Given the description of an element on the screen output the (x, y) to click on. 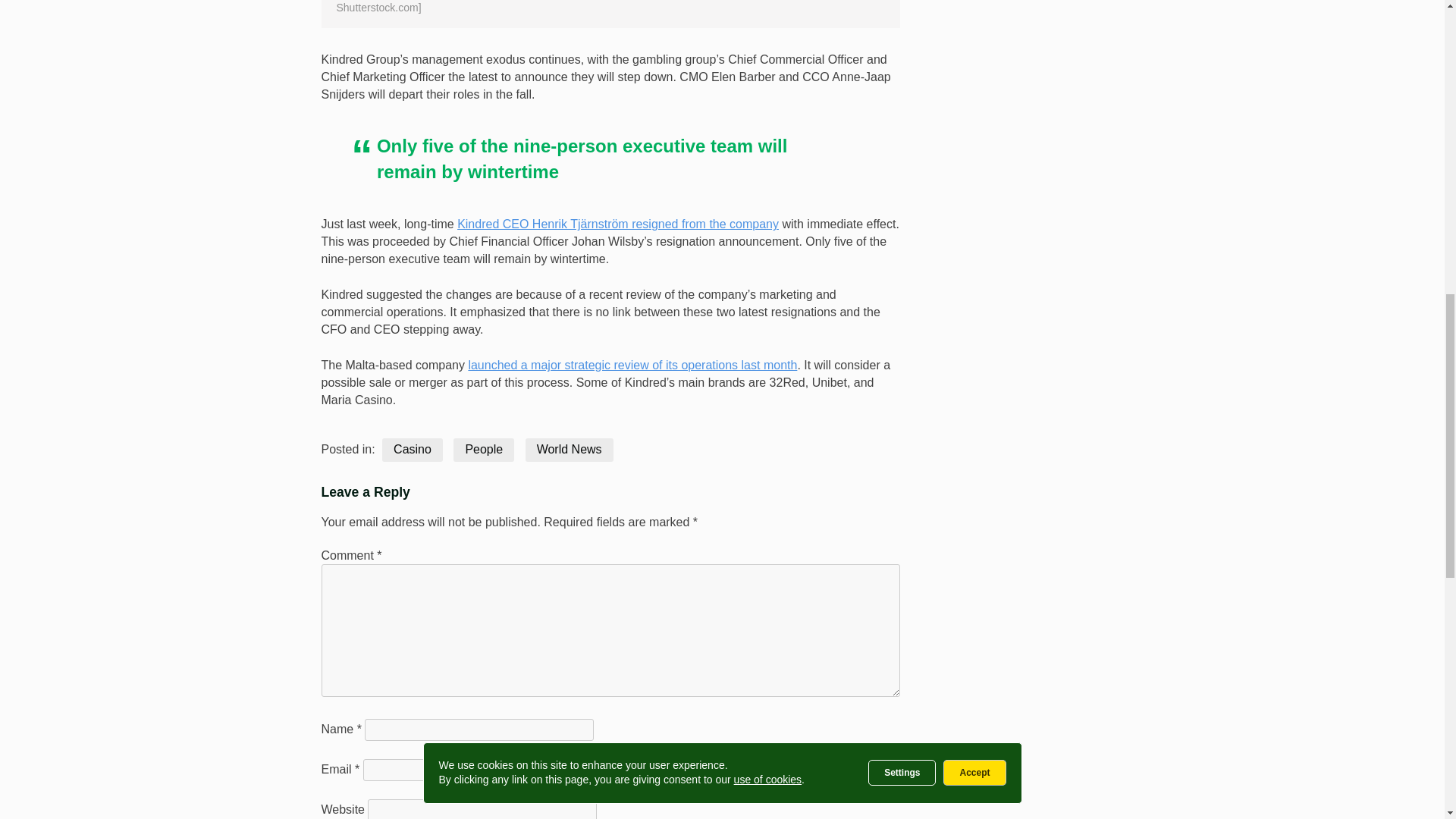
World News (568, 449)
People (482, 449)
Casino (411, 449)
